Given the description of an element on the screen output the (x, y) to click on. 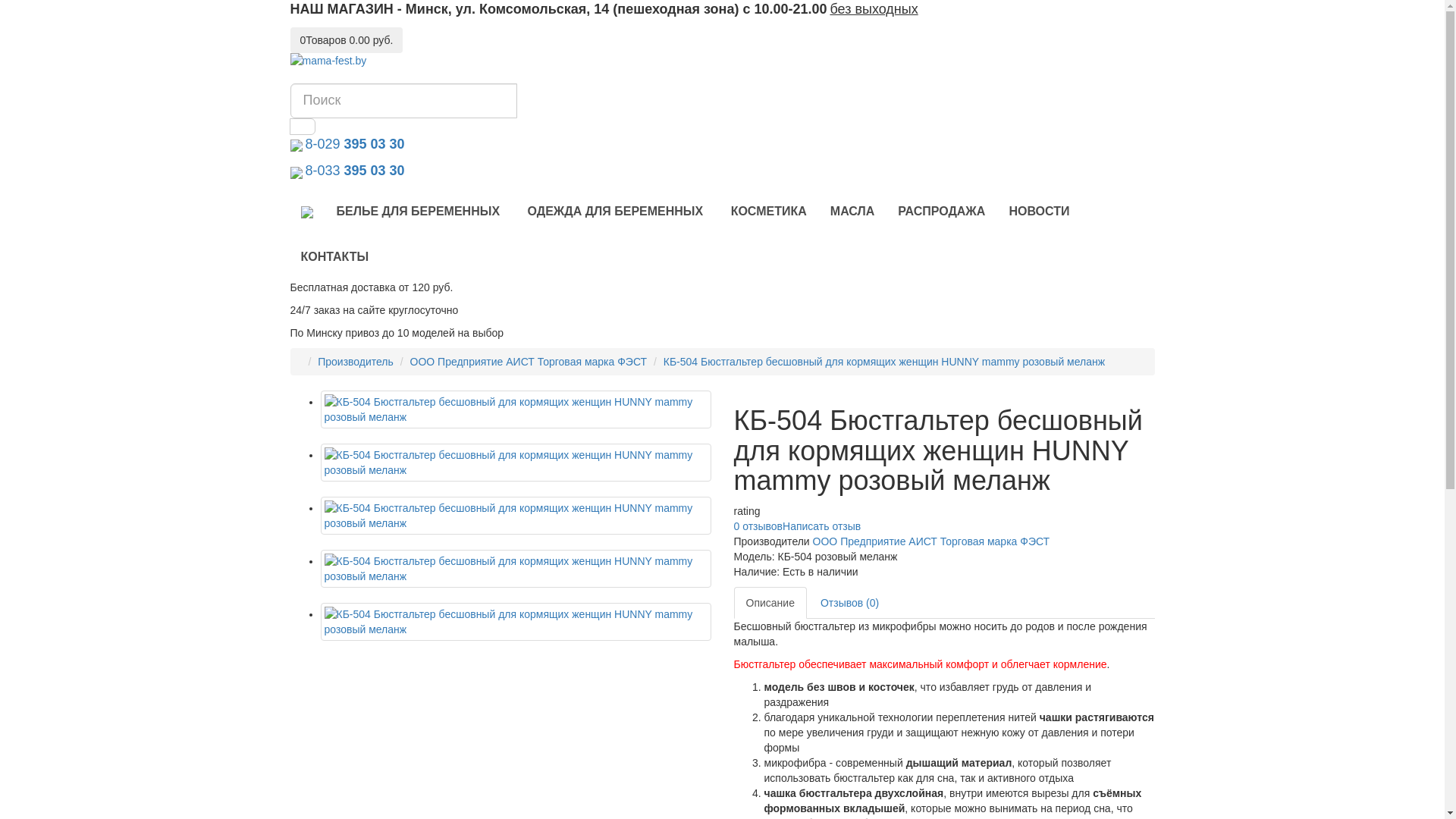
8-033 395 03 30 Element type: text (352, 171)
mama-fest.by Element type: hover (721, 60)
8-029 395 03 30 Element type: text (352, 144)
